Given the description of an element on the screen output the (x, y) to click on. 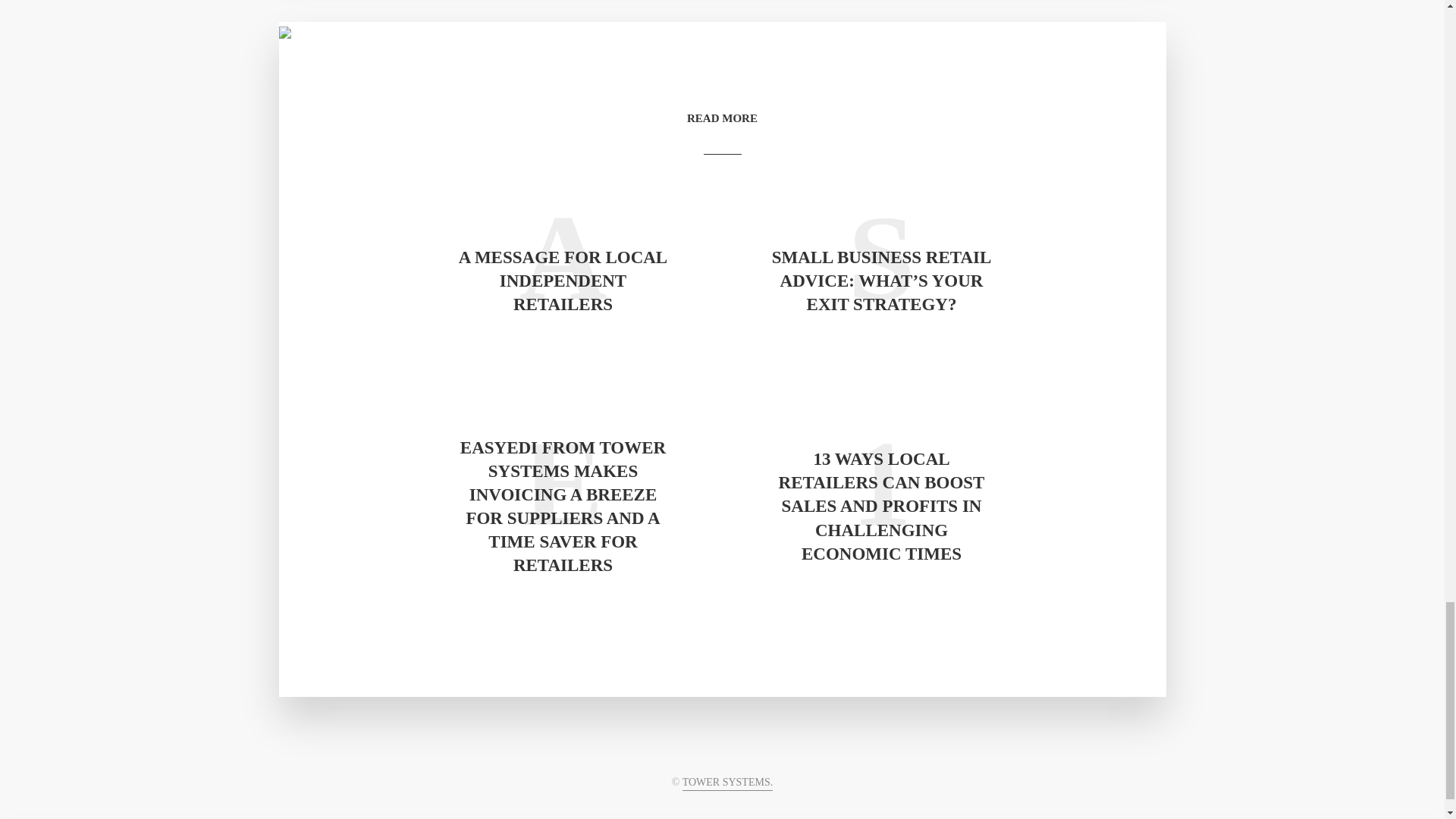
A MESSAGE FOR LOCAL INDEPENDENT RETAILERS (562, 280)
TOWER SYSTEMS. (727, 783)
TOWER SYSTEMS. (727, 783)
A message for local independent retailers (562, 280)
